Given the description of an element on the screen output the (x, y) to click on. 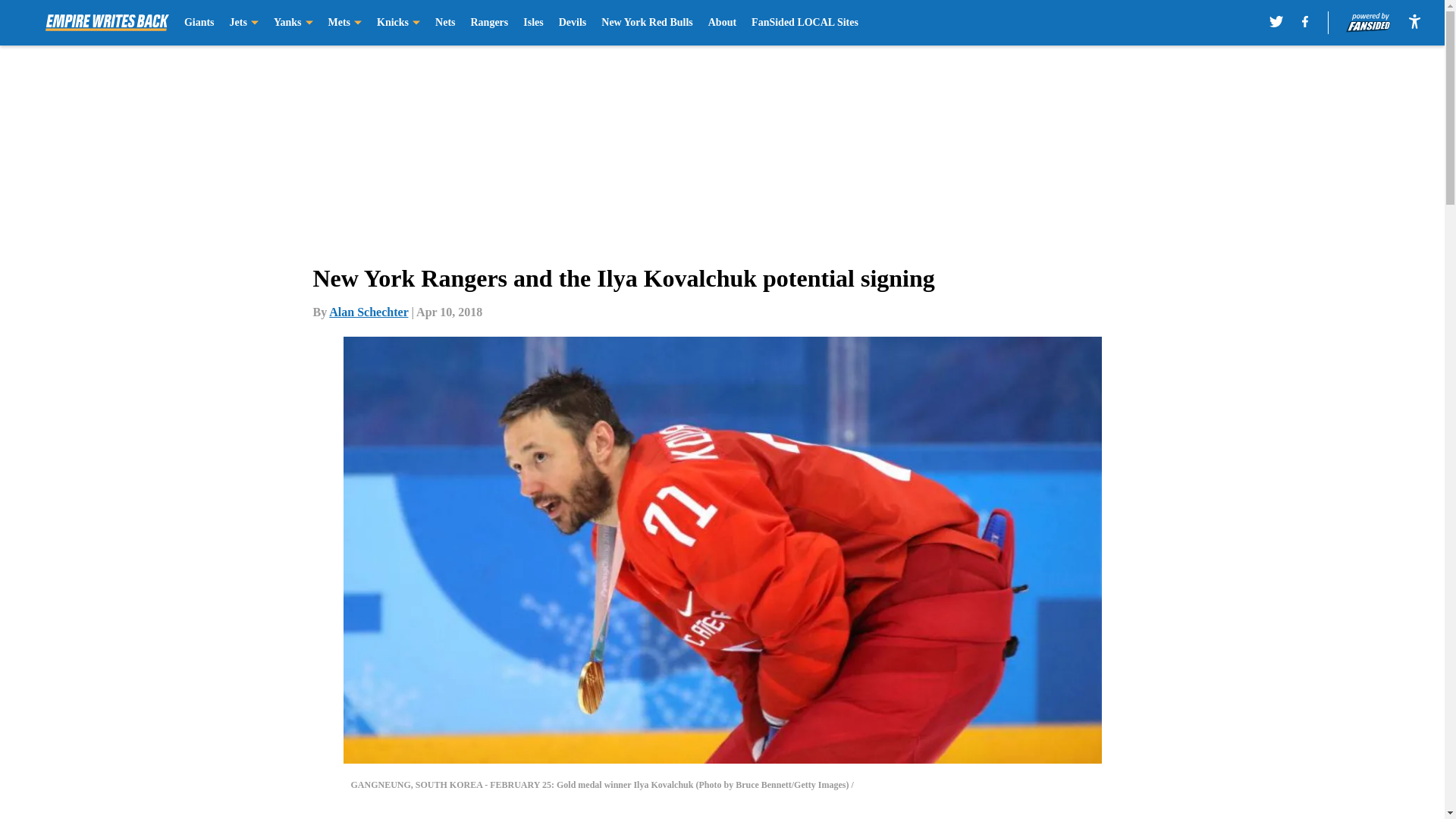
Isles (532, 22)
About (721, 22)
Nets (444, 22)
Alan Schechter (368, 311)
FanSided LOCAL Sites (805, 22)
New York Red Bulls (647, 22)
Devils (572, 22)
Rangers (489, 22)
Giants (199, 22)
